Given the description of an element on the screen output the (x, y) to click on. 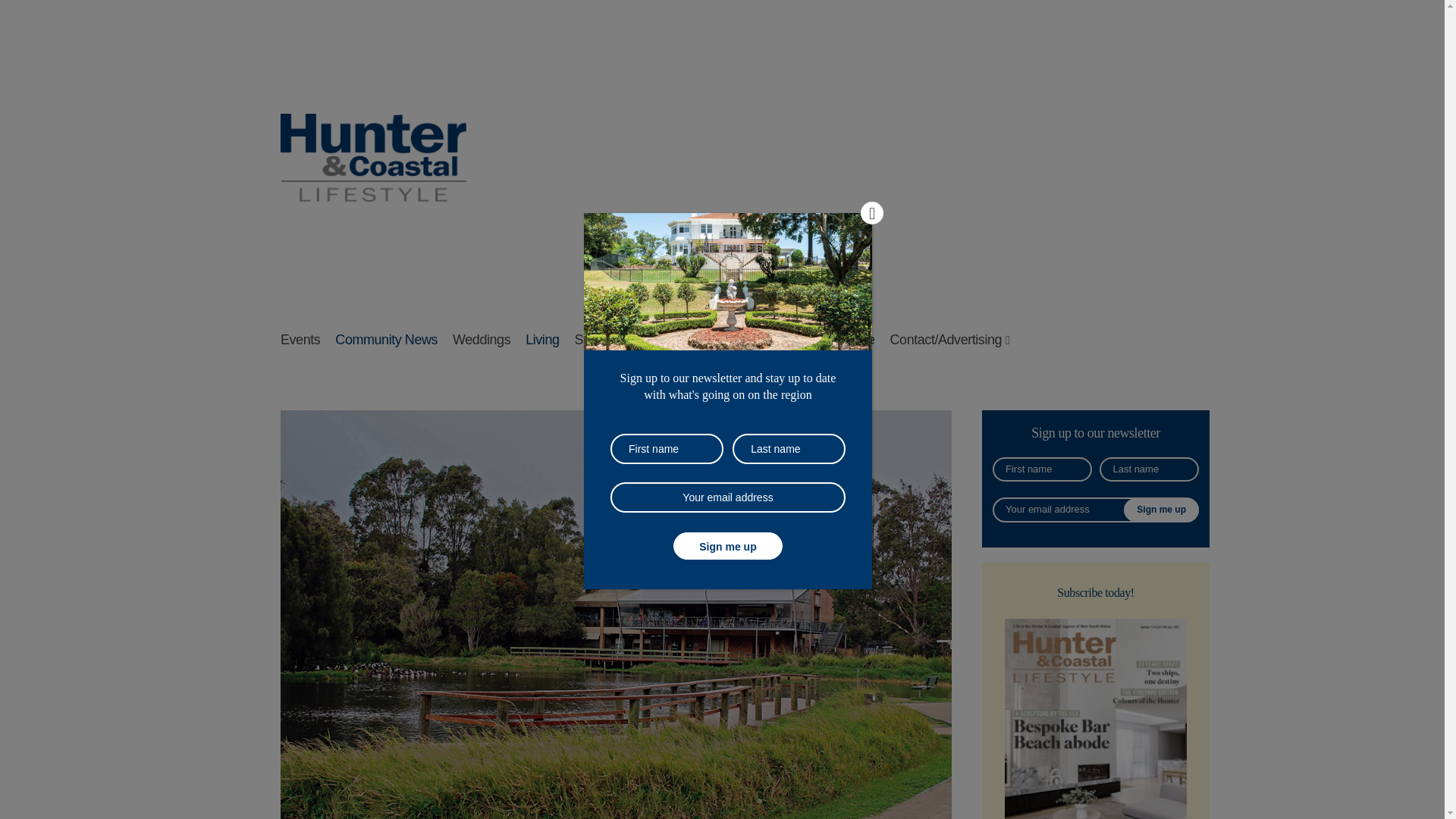
Sign me up (727, 545)
Community News (386, 339)
Weddings (481, 339)
Subscribe (845, 339)
Business Directory (743, 339)
Sign me up (1161, 509)
Events (300, 339)
Sign me up (1161, 509)
Living (542, 339)
Stories (594, 339)
Homes (649, 339)
Advertisement (933, 157)
